Given the description of an element on the screen output the (x, y) to click on. 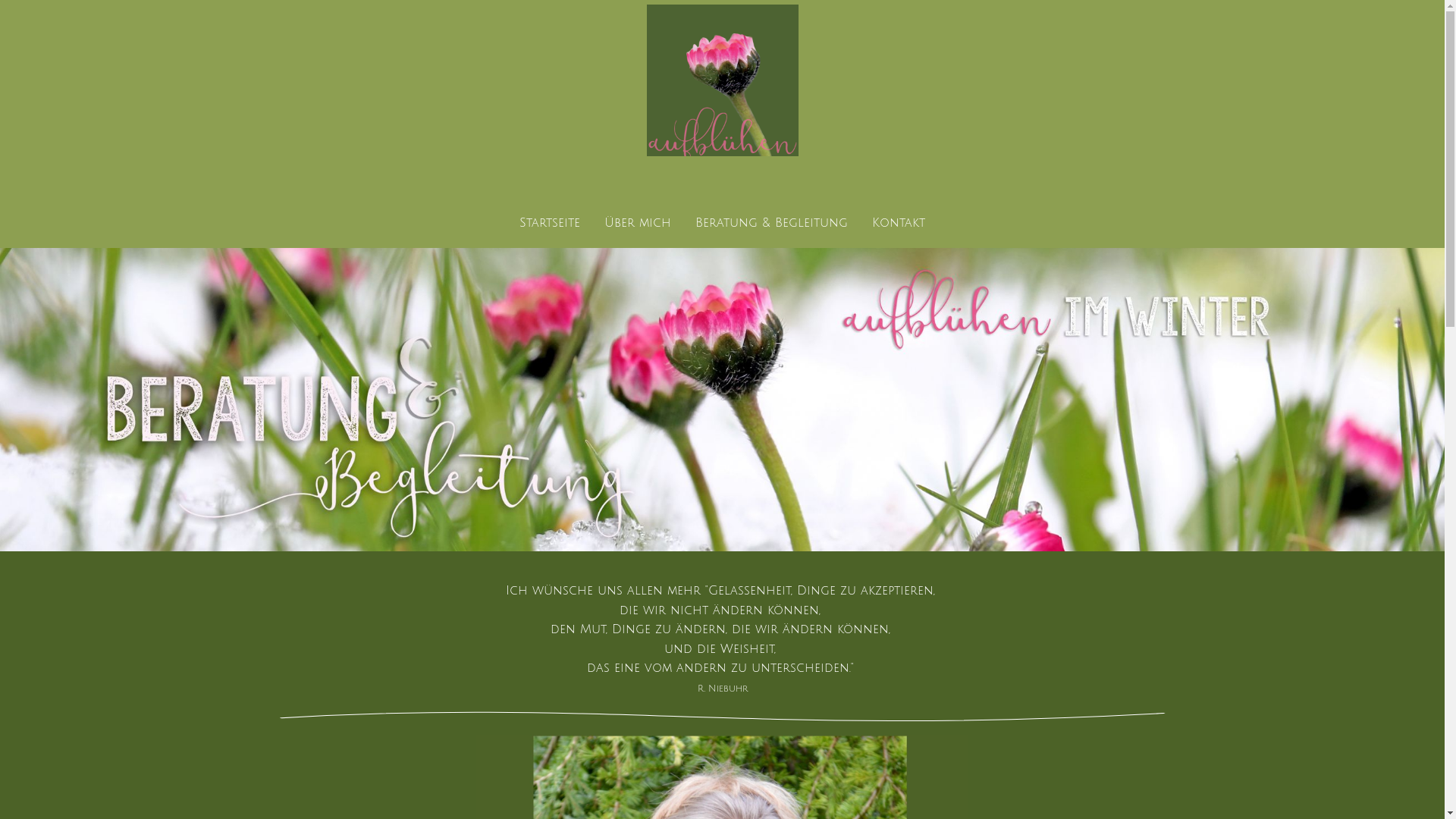
Startseite Element type: text (543, 222)
Beratung & Begleitung Element type: text (771, 222)
Kontakt Element type: text (904, 222)
